Given the description of an element on the screen output the (x, y) to click on. 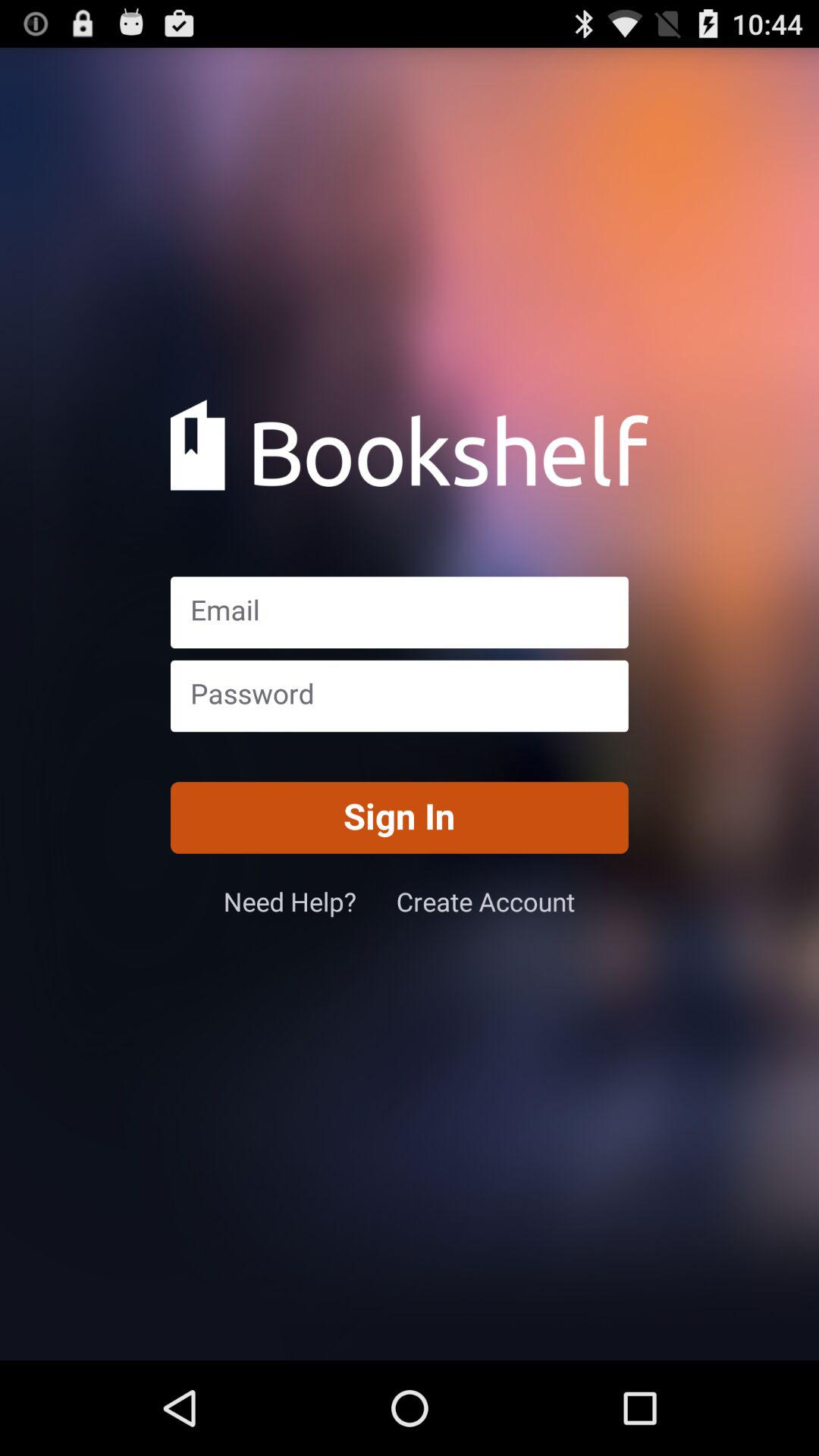
choose need help? icon (309, 901)
